Given the description of an element on the screen output the (x, y) to click on. 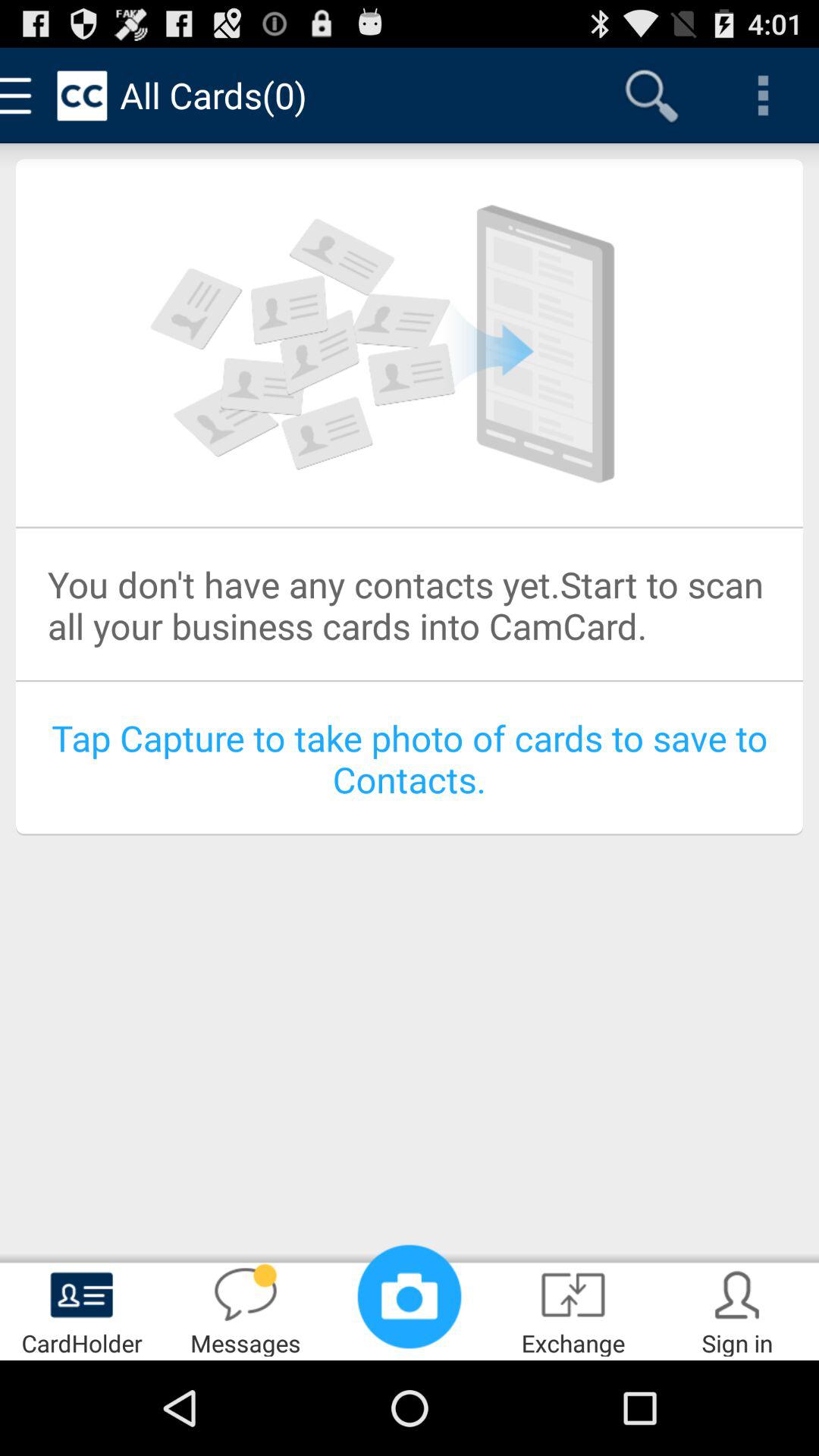
turn on the cardholder app (81, 1309)
